Given the description of an element on the screen output the (x, y) to click on. 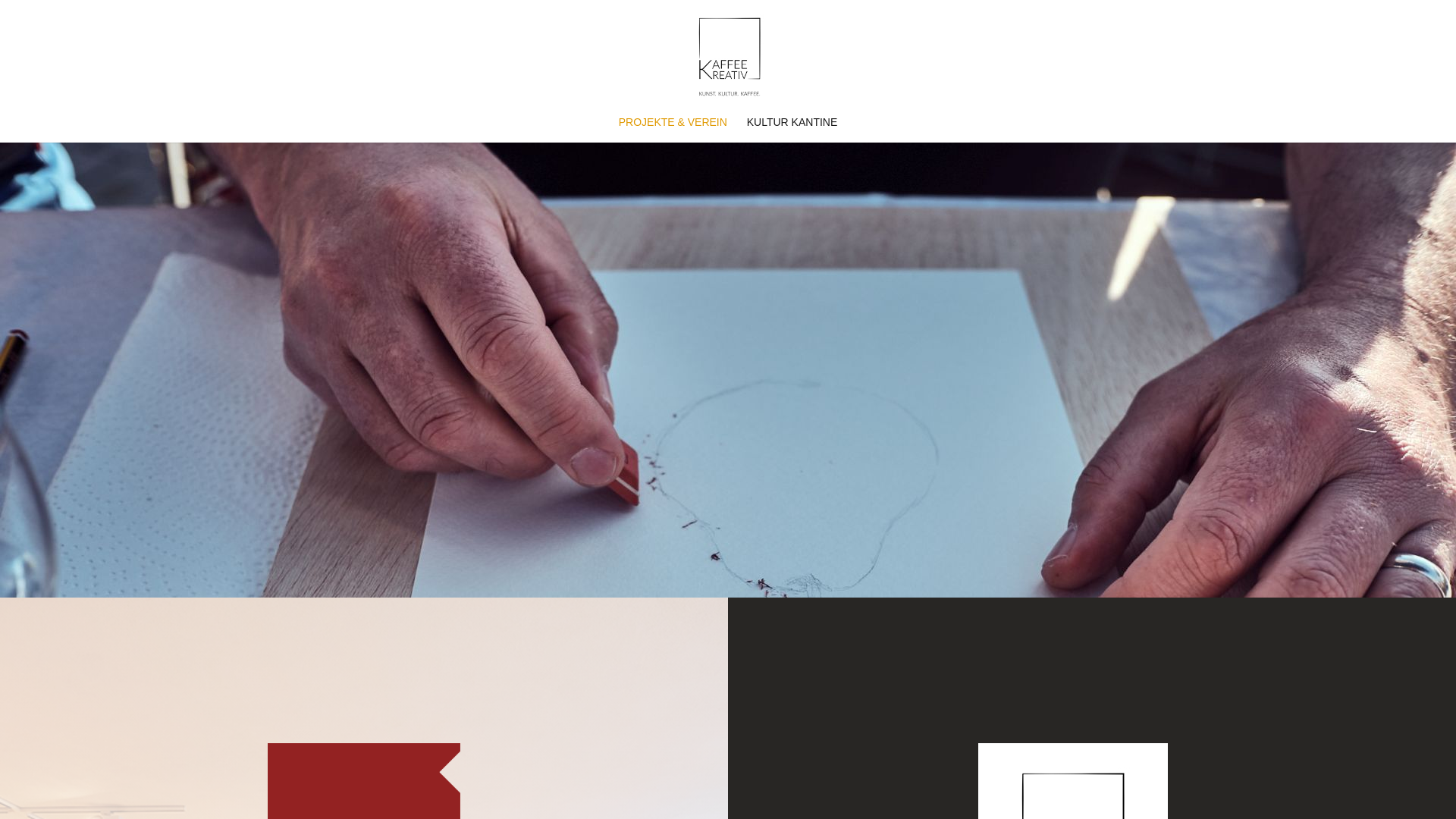
PROJEKTE & VEREIN Element type: text (672, 129)
KULTUR KANTINE Element type: text (791, 129)
